Given the description of an element on the screen output the (x, y) to click on. 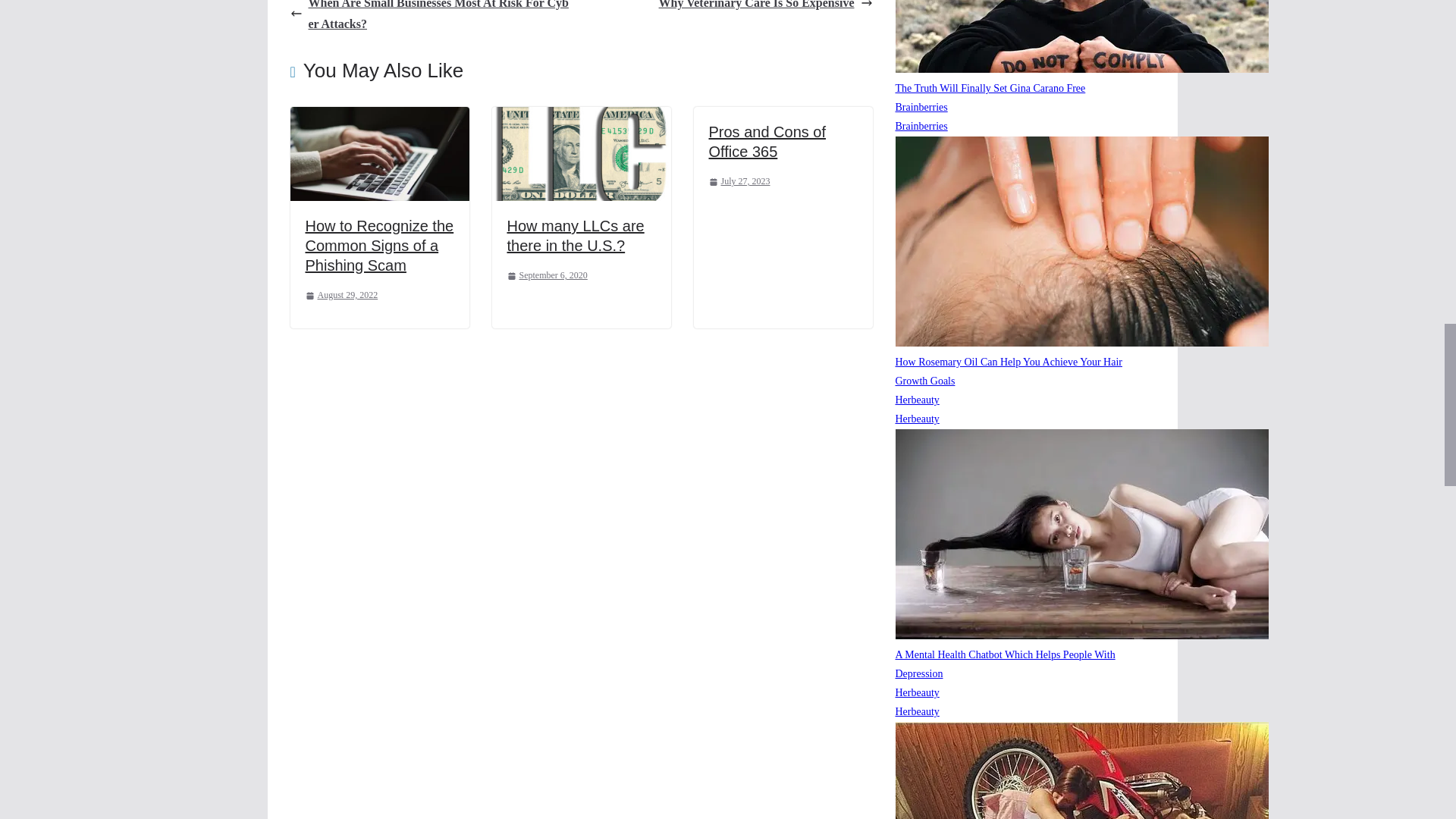
How to Recognize the Common Signs of a Phishing Scam (378, 245)
July 27, 2023 (738, 181)
When Are Small Businesses Most At Risk For Cyber Attacks? (431, 18)
Pros and Cons of Office 365 (766, 141)
September 6, 2020 (546, 275)
August 29, 2022 (340, 295)
How many LLCs are there in the U.S.? (574, 235)
6:20 am (340, 295)
Why Veterinary Care Is So Expensive (765, 7)
How to Recognize the Common Signs of a Phishing Scam (378, 245)
How to Recognize the Common Signs of a Phishing Scam (378, 116)
